Given the description of an element on the screen output the (x, y) to click on. 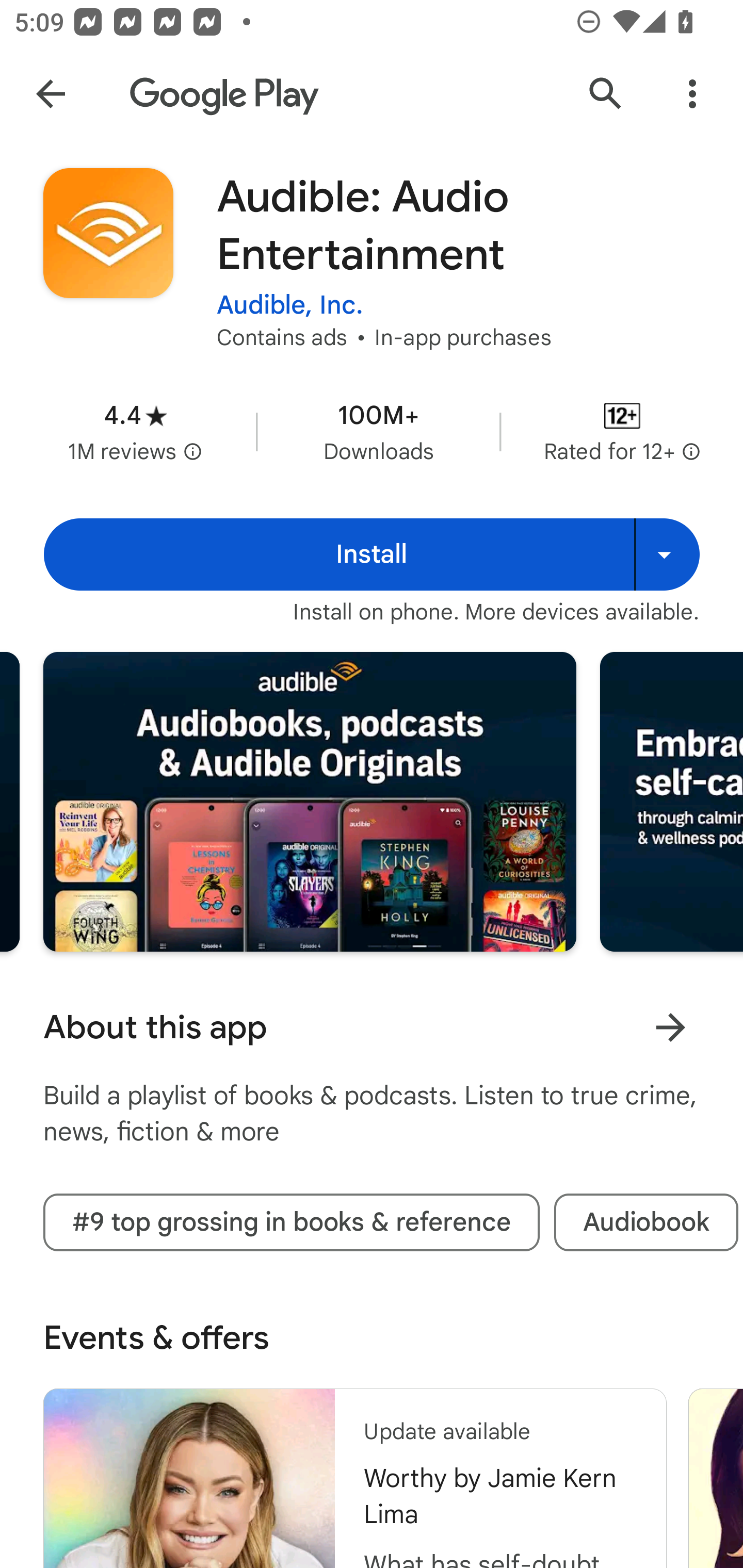
Navigate up (50, 93)
Search Google Play (605, 93)
More Options (692, 93)
Audible, Inc. (290, 304)
Average rating 4.4 stars in 1 million reviews (135, 431)
Content rating Rated for 12+ (622, 431)
Install Install Install on more devices (371, 554)
Install on more devices (667, 554)
Screenshot "1" of "8" (309, 801)
About this app Learn more About this app (371, 1027)
Learn more About this app (670, 1027)
#9 top grossing in books & reference tag (291, 1222)
Audiobook tag (646, 1222)
